Given the description of an element on the screen output the (x, y) to click on. 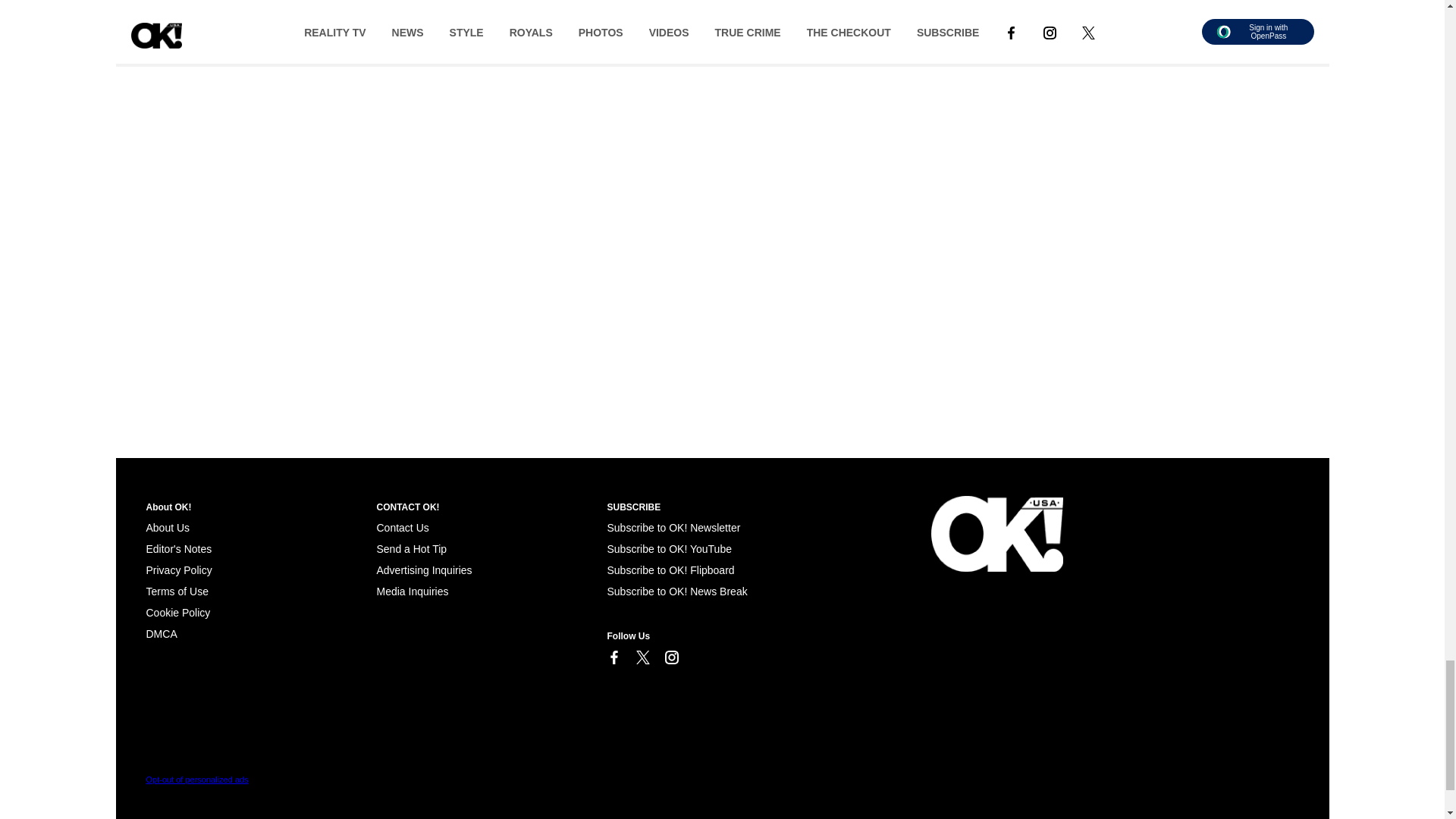
Editor's Notes (178, 548)
Link to Instagram (670, 657)
Cookie Policy (177, 612)
Link to X (641, 657)
About Us (167, 527)
Terms of Use (176, 591)
Link to Facebook (613, 657)
Privacy Policy (178, 570)
